Given the description of an element on the screen output the (x, y) to click on. 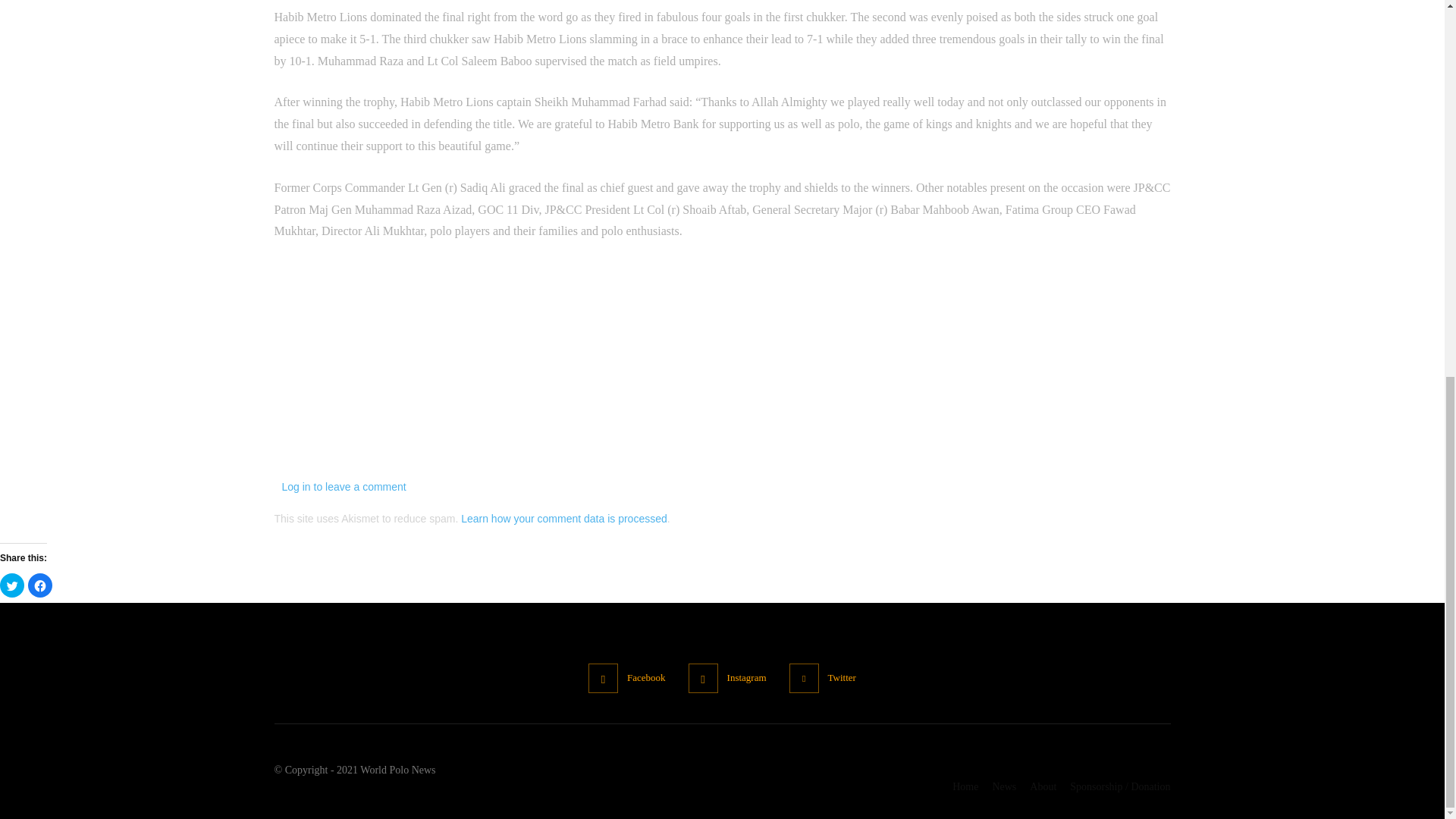
Click to share on Facebook (39, 585)
Click to share on Twitter (12, 585)
